Given the description of an element on the screen output the (x, y) to click on. 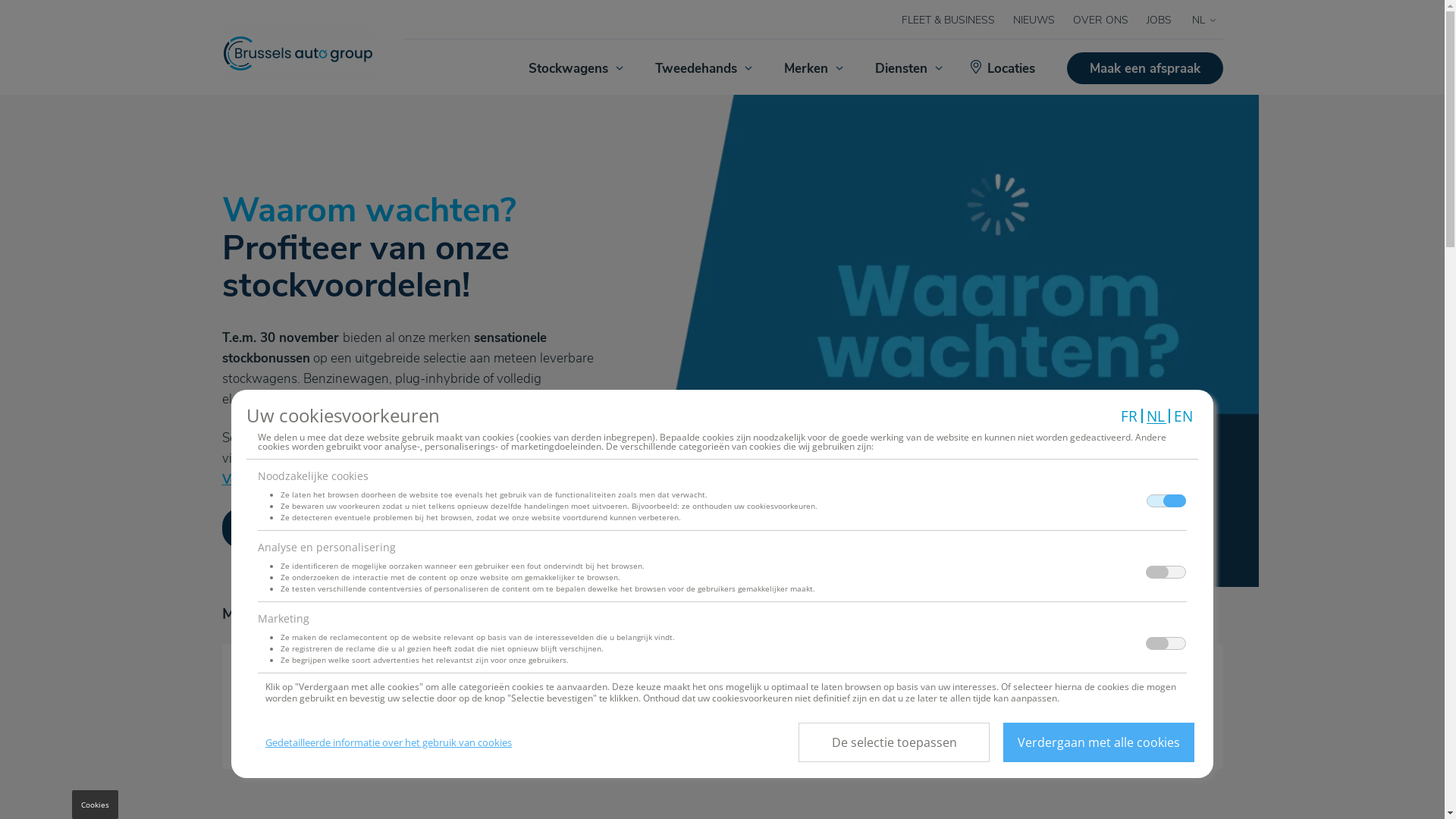
Carrosserie Element type: text (849, 705)
Tweedehands Element type: text (700, 68)
Bedrijfsvoertuigen Element type: text (485, 479)
Maak een afspraak Element type: text (1144, 68)
SEAT Element type: text (354, 479)
FLEET & BUSINESS Element type: text (947, 20)
Onderhoud en herstelling Element type: text (594, 705)
Audi Element type: text (312, 479)
JOBS Element type: text (1158, 20)
NL Element type: text (1156, 415)
Testrit Element type: text (1103, 705)
FR Element type: text (1129, 415)
Merken Element type: text (810, 68)
Volkwagen Element type: text (254, 479)
Stockwagens Element type: text (573, 68)
OVER ONS Element type: text (1099, 20)
Diensten Element type: text (905, 68)
Ontdek hier alle wagens Element type: text (315, 528)
Verkoop Element type: text (339, 705)
Overslaan en naar de inhoud gaan Element type: text (0, 0)
EN Element type: text (1183, 415)
Verdergaan met alle cookies Element type: text (1098, 742)
NIEUWS Element type: text (1033, 20)
Locaties Element type: text (1004, 68)
Gedetailleerde informatie over het gebruik van cookies Element type: text (388, 742)
De selectie toepassen Element type: text (893, 742)
